Given the description of an element on the screen output the (x, y) to click on. 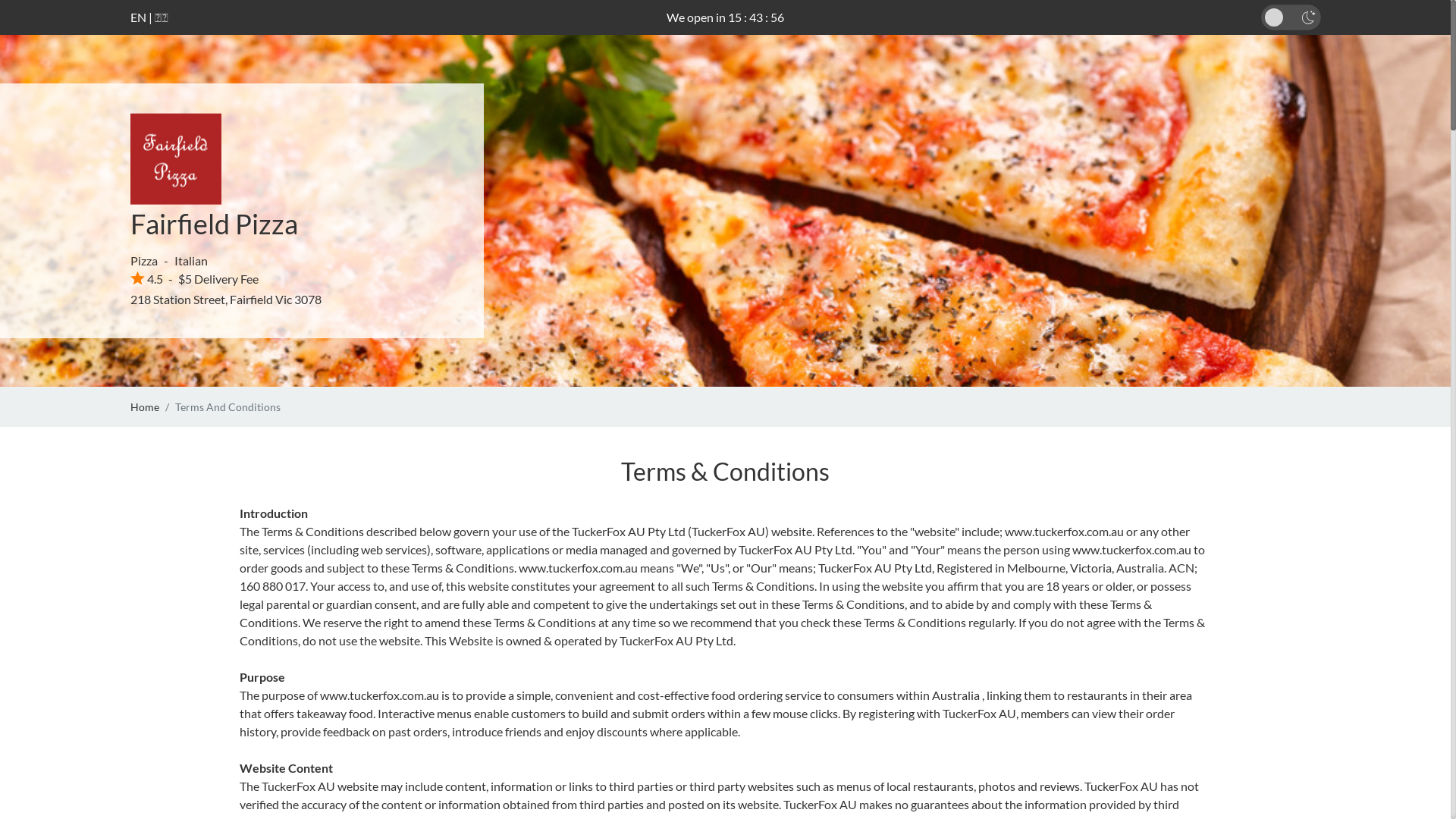
Home Element type: text (144, 406)
4.5 Element type: text (146, 278)
EN Element type: text (138, 16)
Fairfield Pizza Element type: text (214, 223)
